Given the description of an element on the screen output the (x, y) to click on. 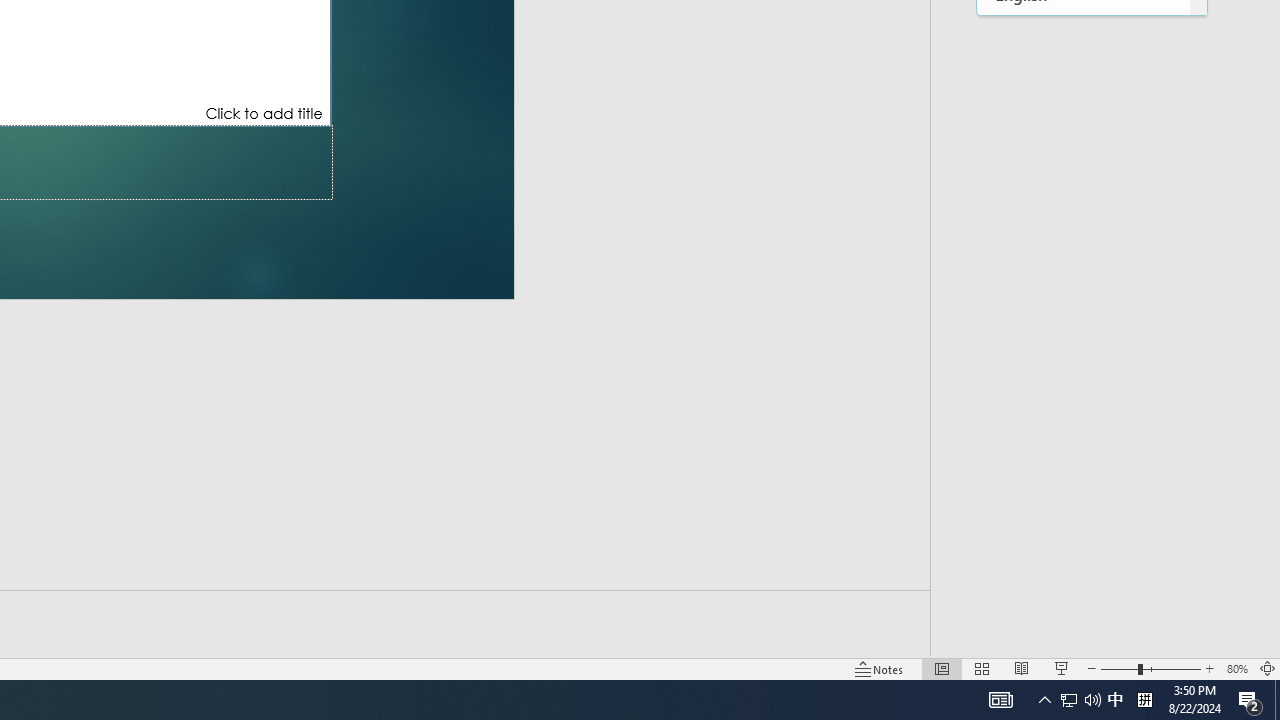
Ganda (1083, 362)
Hebrew (1083, 650)
German (1083, 444)
Galician (1083, 321)
Hausa (1083, 609)
Fijian (1083, 117)
Greek (1083, 485)
French (Canada) (1083, 280)
French (1083, 240)
